Given the description of an element on the screen output the (x, y) to click on. 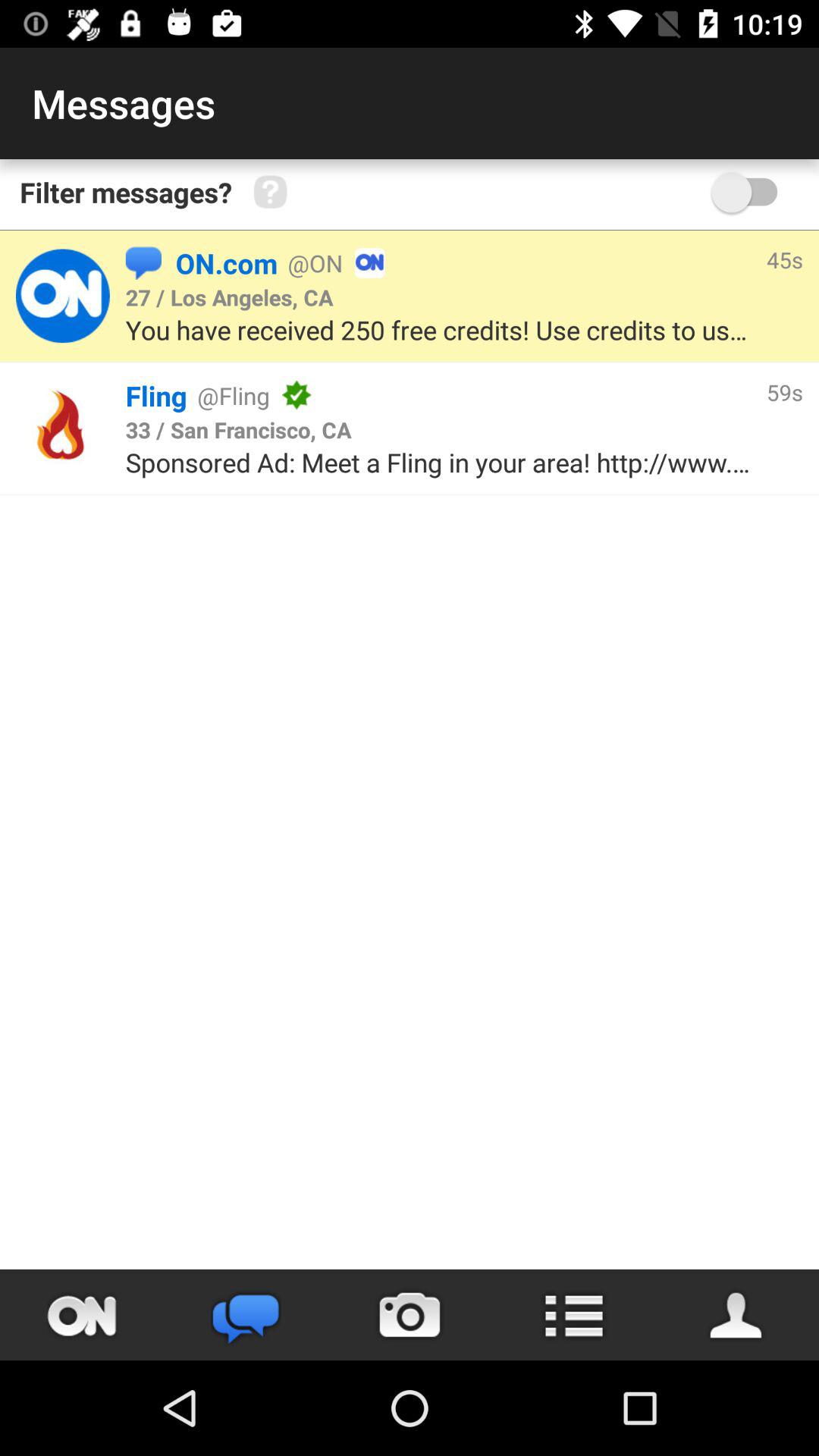
contacts (737, 1315)
